Given the description of an element on the screen output the (x, y) to click on. 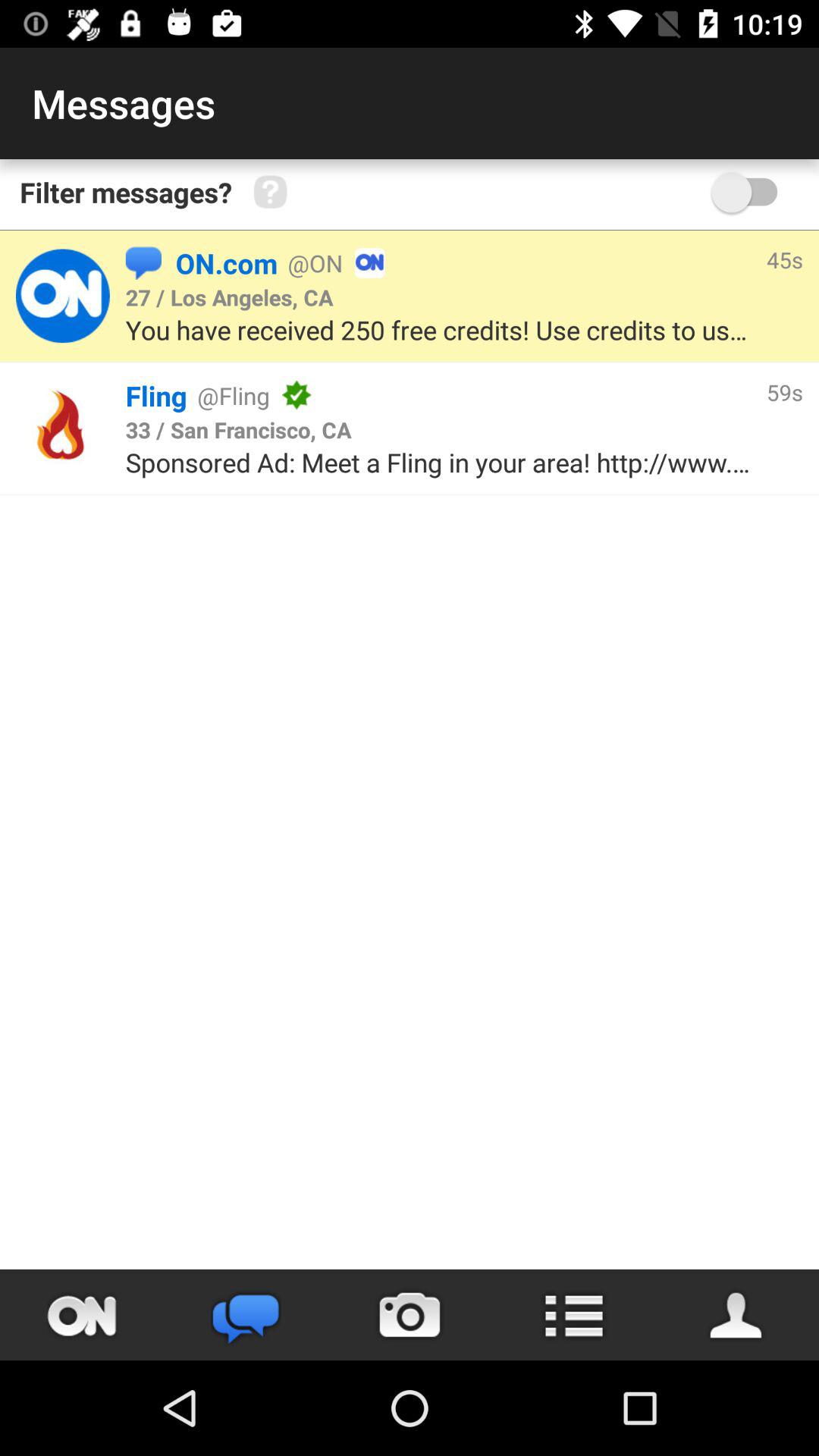
contacts (737, 1315)
